Given the description of an element on the screen output the (x, y) to click on. 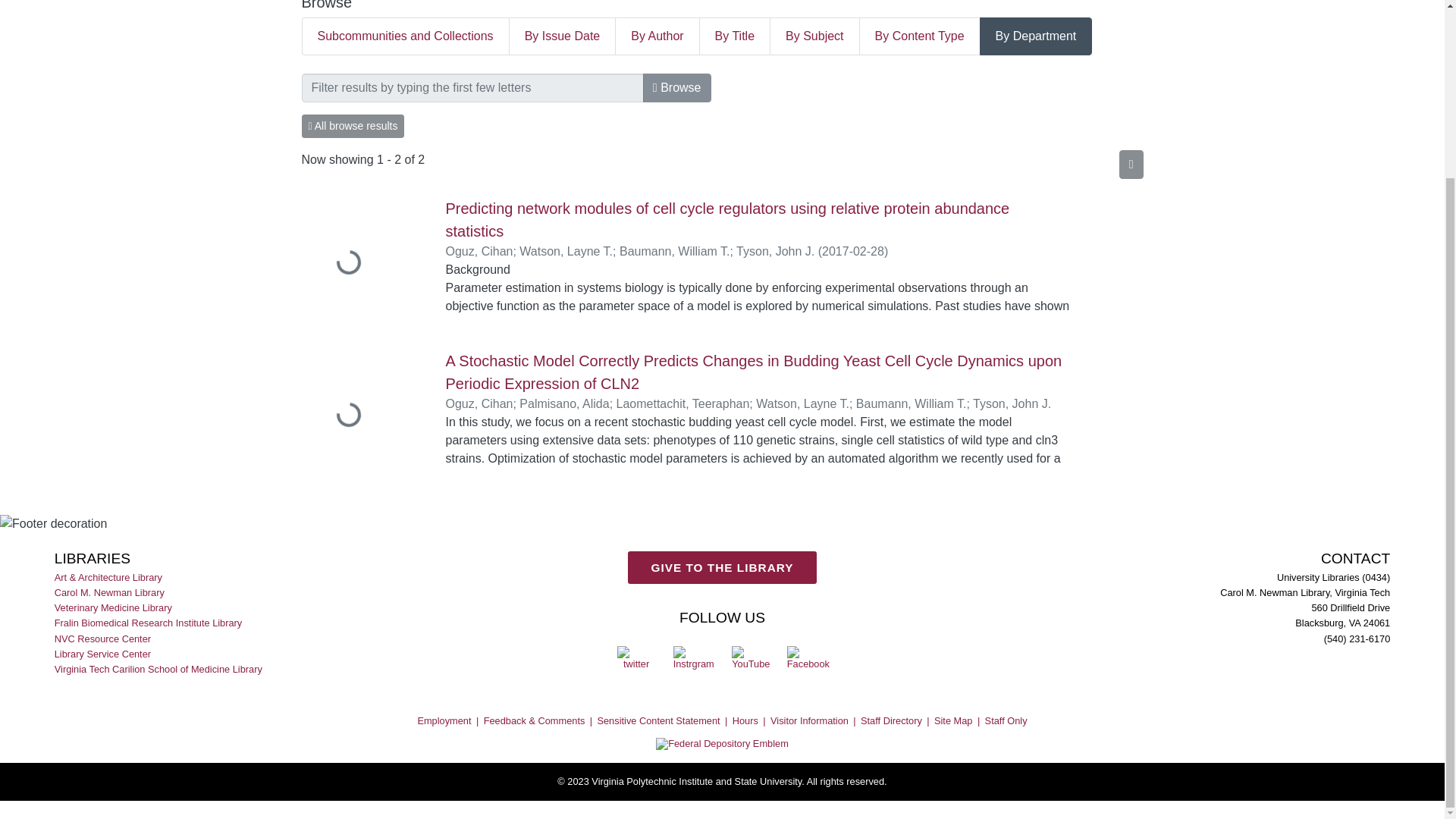
All browse results (352, 126)
By Content Type (919, 36)
By Subject (814, 36)
Subcommunities and Collections (405, 36)
By Title (735, 36)
Browse (677, 87)
By Author (656, 36)
By Issue Date (562, 36)
By Department (1036, 36)
